Given the description of an element on the screen output the (x, y) to click on. 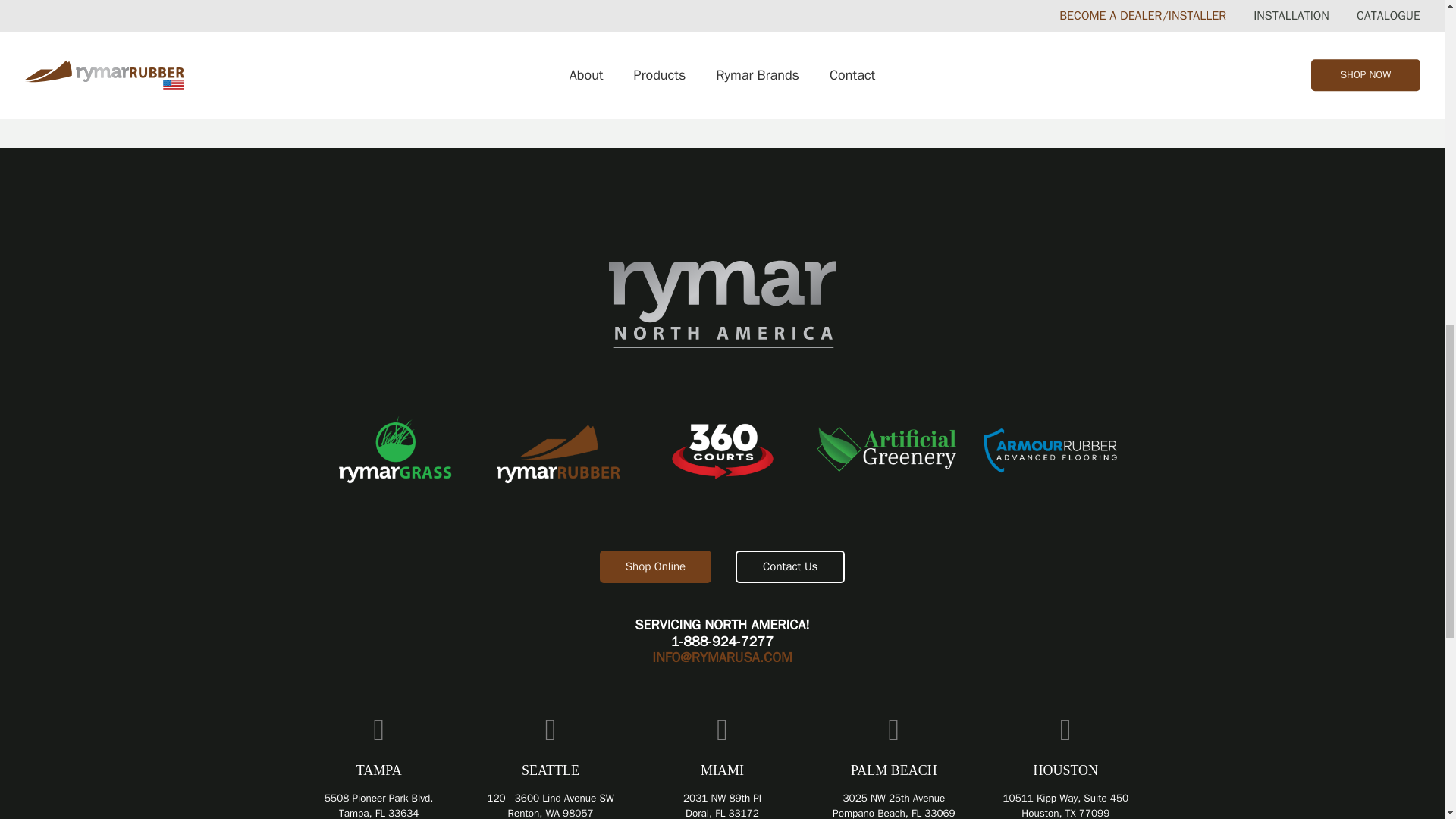
Contact Us (789, 566)
Shop Online (655, 566)
